Given the description of an element on the screen output the (x, y) to click on. 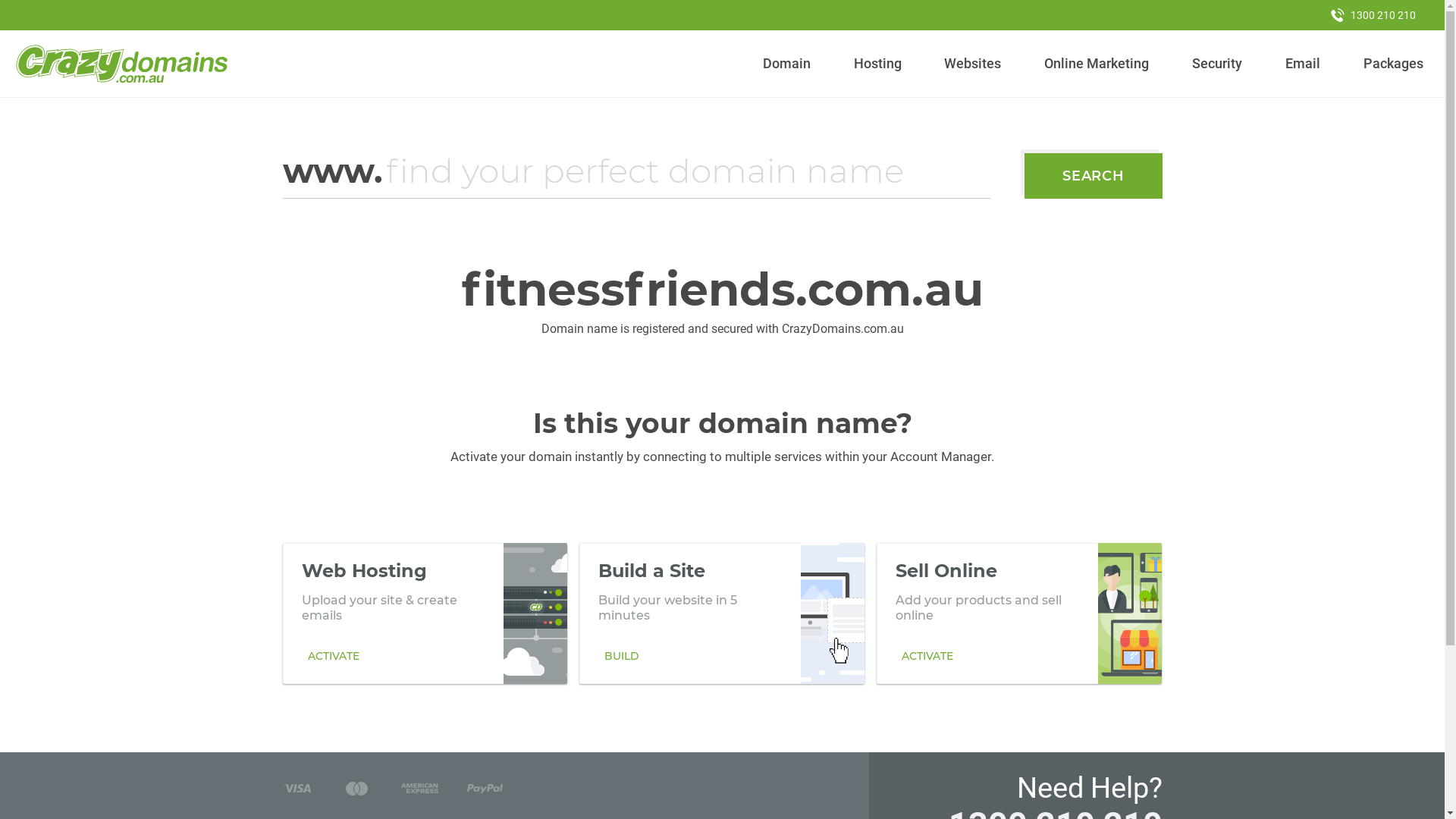
Online Marketing Element type: text (1096, 63)
Web Hosting
Upload your site & create emails
ACTIVATE Element type: text (424, 613)
SEARCH Element type: text (1092, 175)
Domain Element type: text (786, 63)
Sell Online
Add your products and sell online
ACTIVATE Element type: text (1018, 613)
Websites Element type: text (972, 63)
Build a Site
Build your website in 5 minutes
BUILD Element type: text (721, 613)
Security Element type: text (1217, 63)
Email Element type: text (1302, 63)
1300 210 210 Element type: text (1373, 15)
Hosting Element type: text (877, 63)
Packages Element type: text (1392, 63)
